Given the description of an element on the screen output the (x, y) to click on. 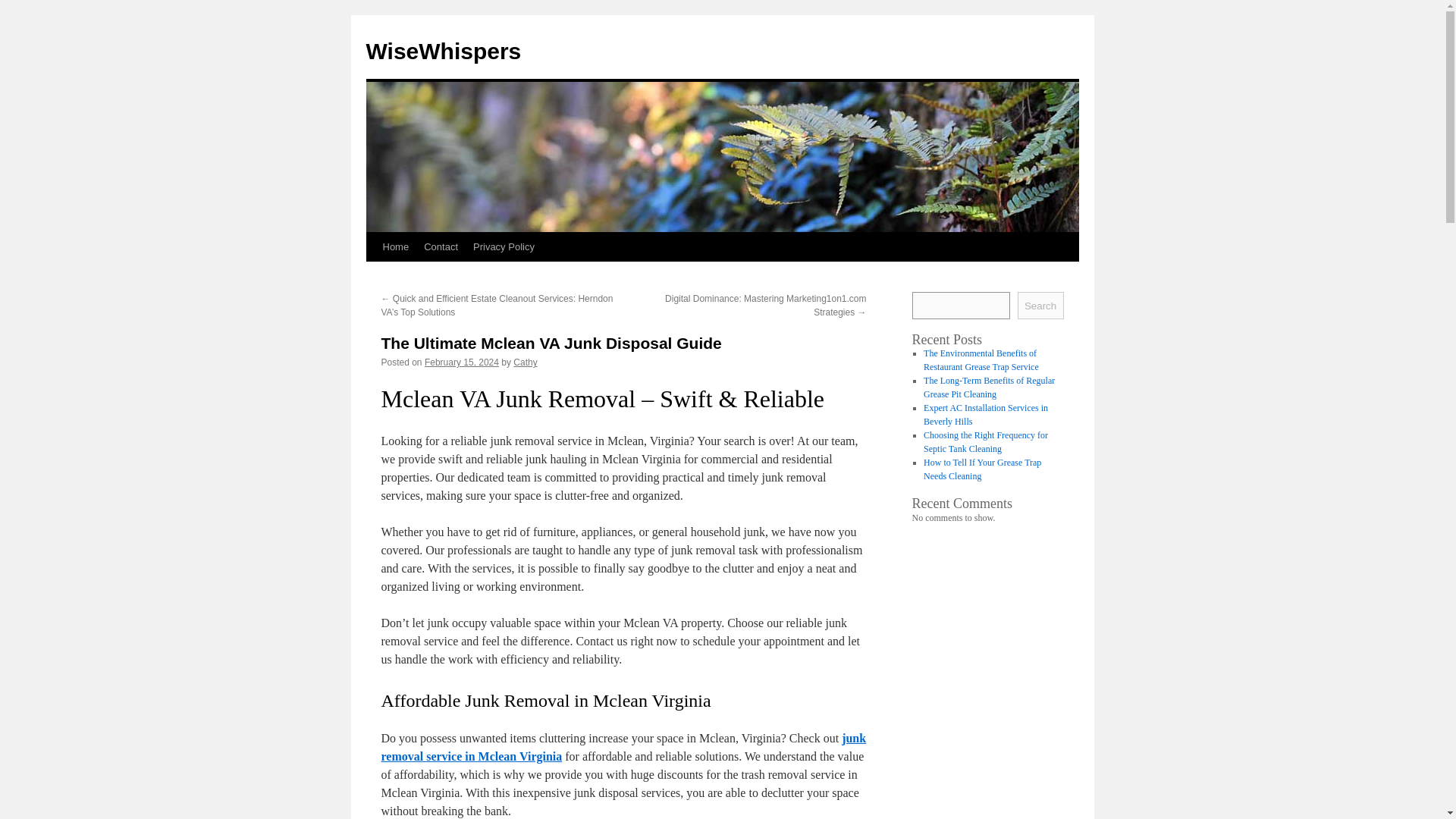
Cathy (525, 362)
Home (395, 246)
Contact (440, 246)
February 15, 2024 (462, 362)
11:47 pm (462, 362)
Privacy Policy (503, 246)
Choosing the Right Frequency for Septic Tank Cleaning (985, 441)
Expert AC Installation Services in Beverly Hills (985, 414)
View all posts by Cathy (525, 362)
junk removal service in Mclean Virginia (623, 747)
